Given the description of an element on the screen output the (x, y) to click on. 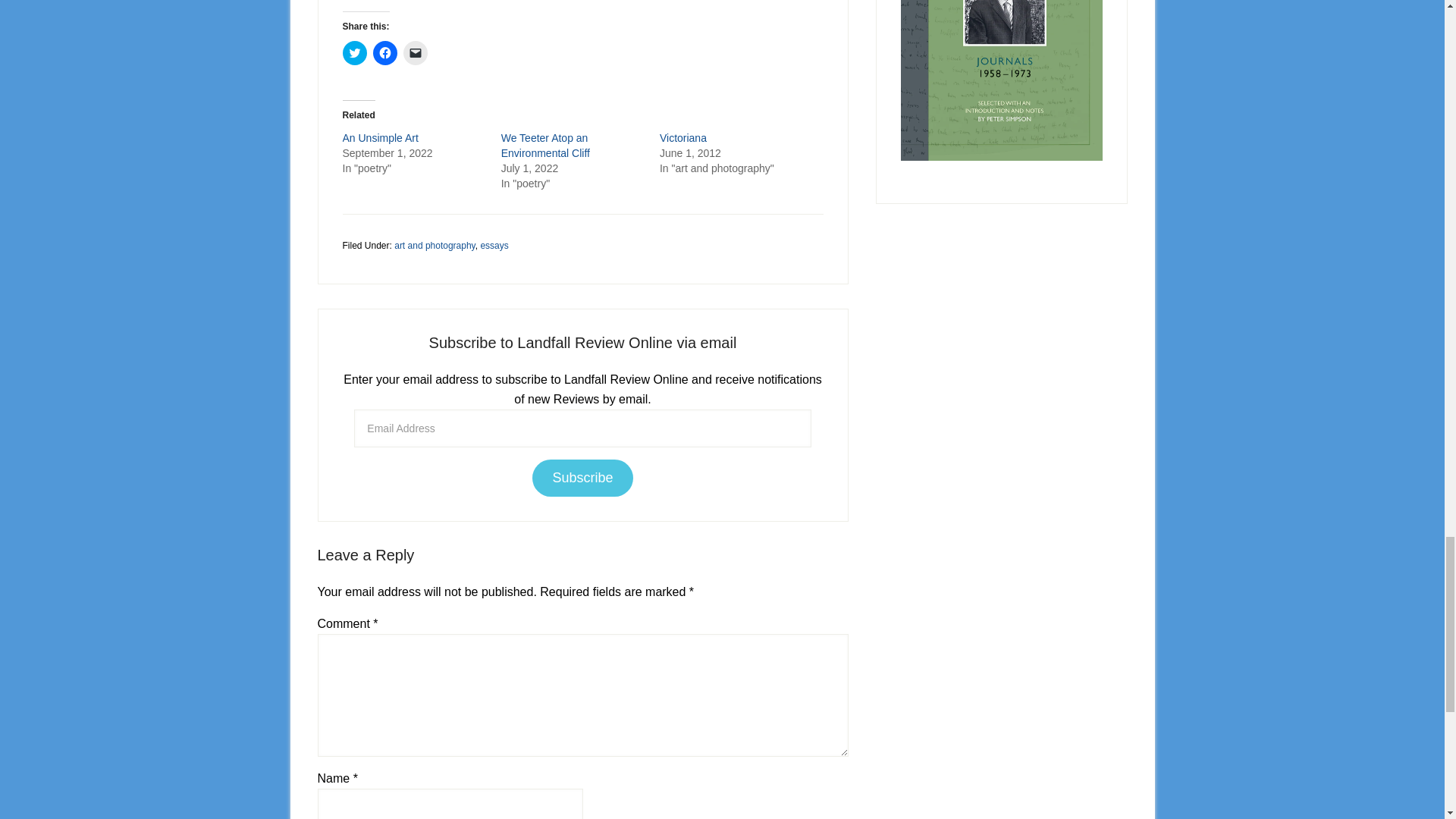
Click to share on Facebook (384, 52)
An Unsimple Art (380, 137)
Victoriana (682, 137)
We Teeter Atop an Environmental Cliff (544, 144)
Victoriana (682, 137)
essays (494, 245)
art and photography (435, 245)
Click to share on Twitter (354, 52)
Charles Brasch Journals (1001, 79)
Subscribe (581, 477)
